Given the description of an element on the screen output the (x, y) to click on. 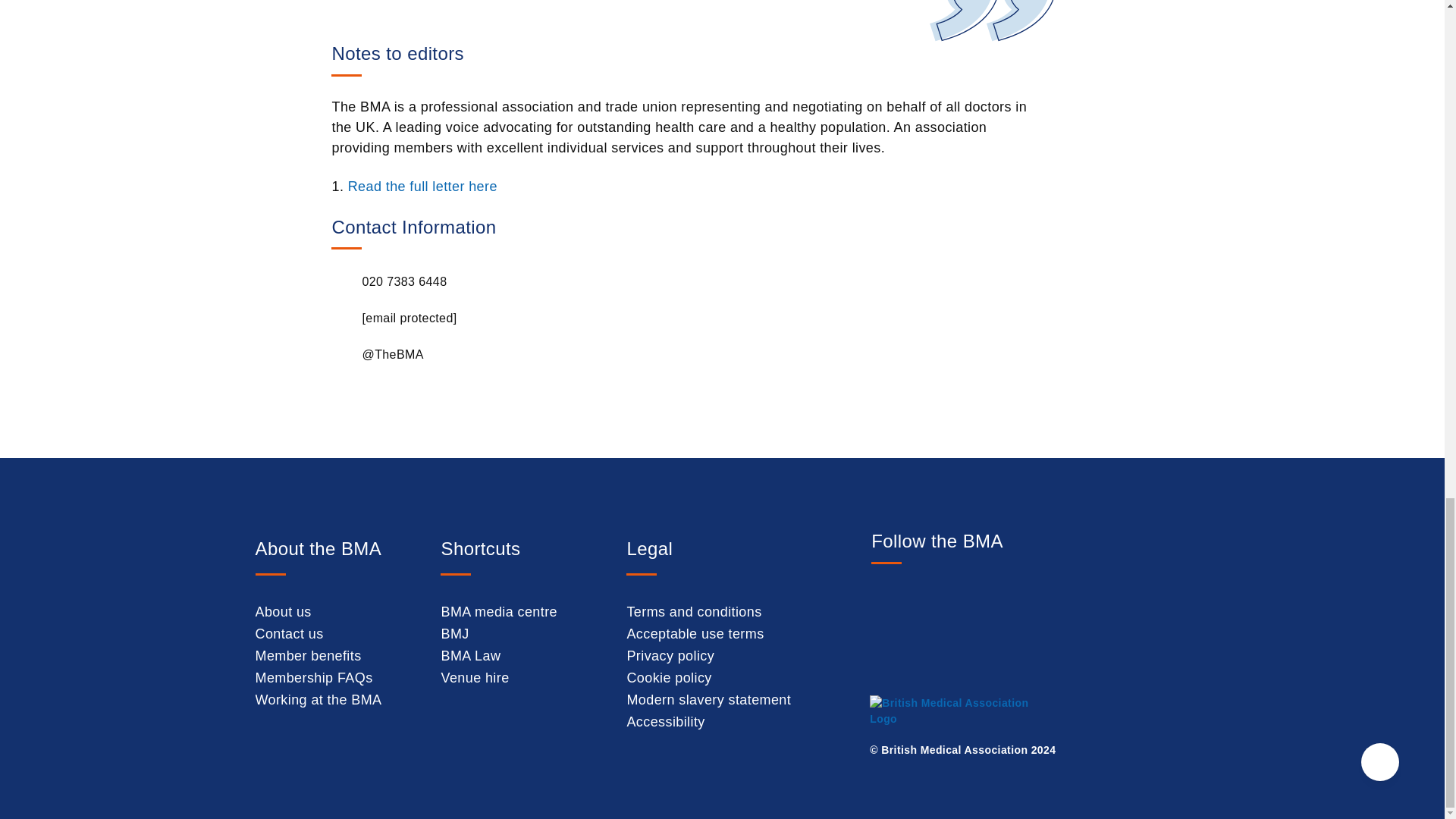
BMA Law (470, 655)
Modern slavery statement (708, 699)
Venue hire (474, 677)
Terms and conditions (693, 611)
Privacy policy (670, 655)
Member benefits (307, 655)
Membership FAQs (313, 677)
Cookie policy (668, 677)
Cyber Essentials (1120, 727)
Contact us (288, 633)
